Given the description of an element on the screen output the (x, y) to click on. 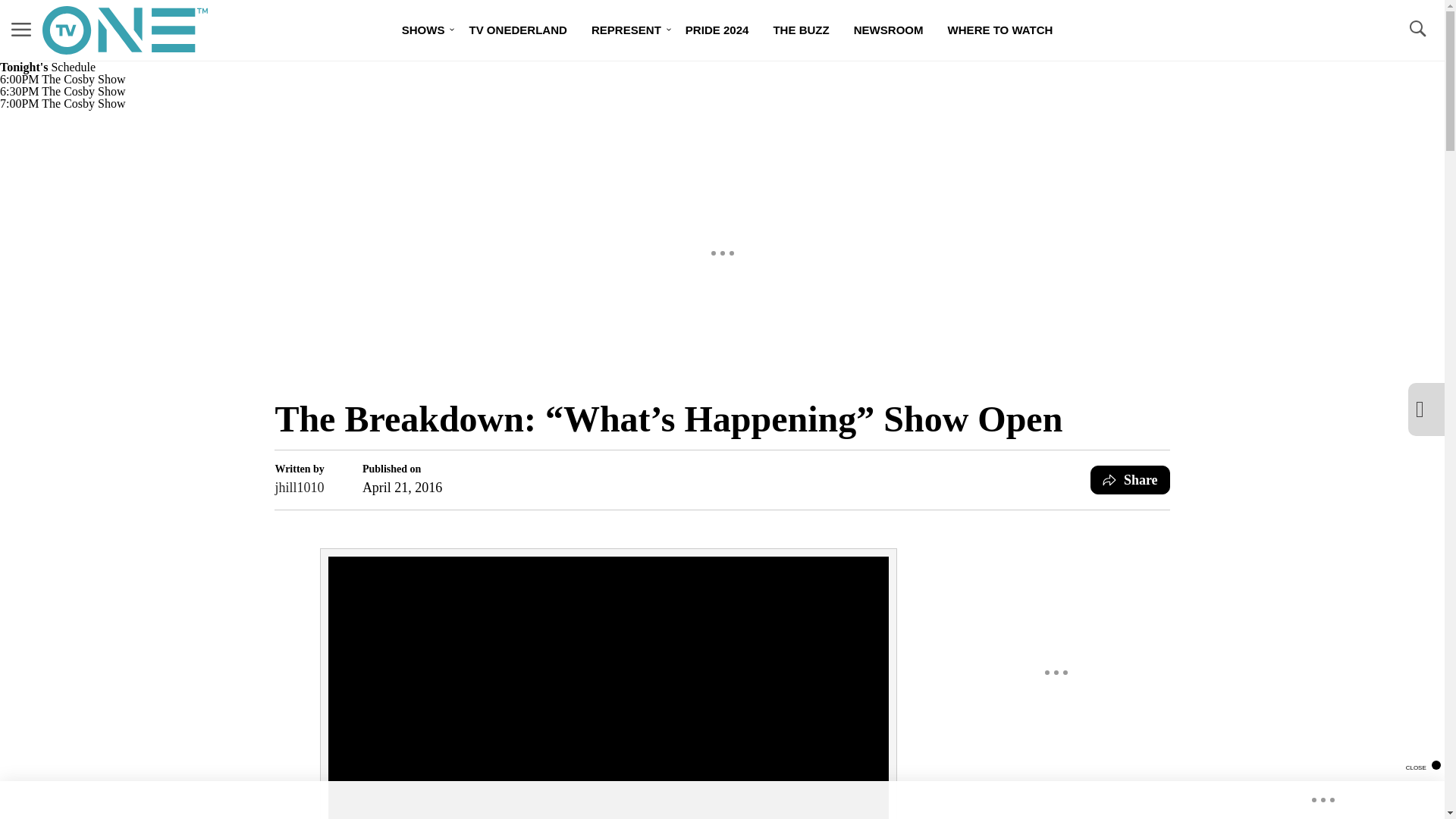
SHOWS (423, 30)
TV ONEDERLAND (517, 30)
NEWSROOM (888, 30)
PRIDE 2024 (716, 30)
Share (1130, 480)
TOGGLE SEARCH (1417, 28)
jhill1010 (299, 486)
Tonight's Schedule (48, 66)
WHERE TO WATCH (1000, 30)
THE BUZZ (800, 30)
MENU (20, 29)
MENU (20, 30)
REPRESENT (625, 30)
TOGGLE SEARCH (1417, 30)
